Given the description of an element on the screen output the (x, y) to click on. 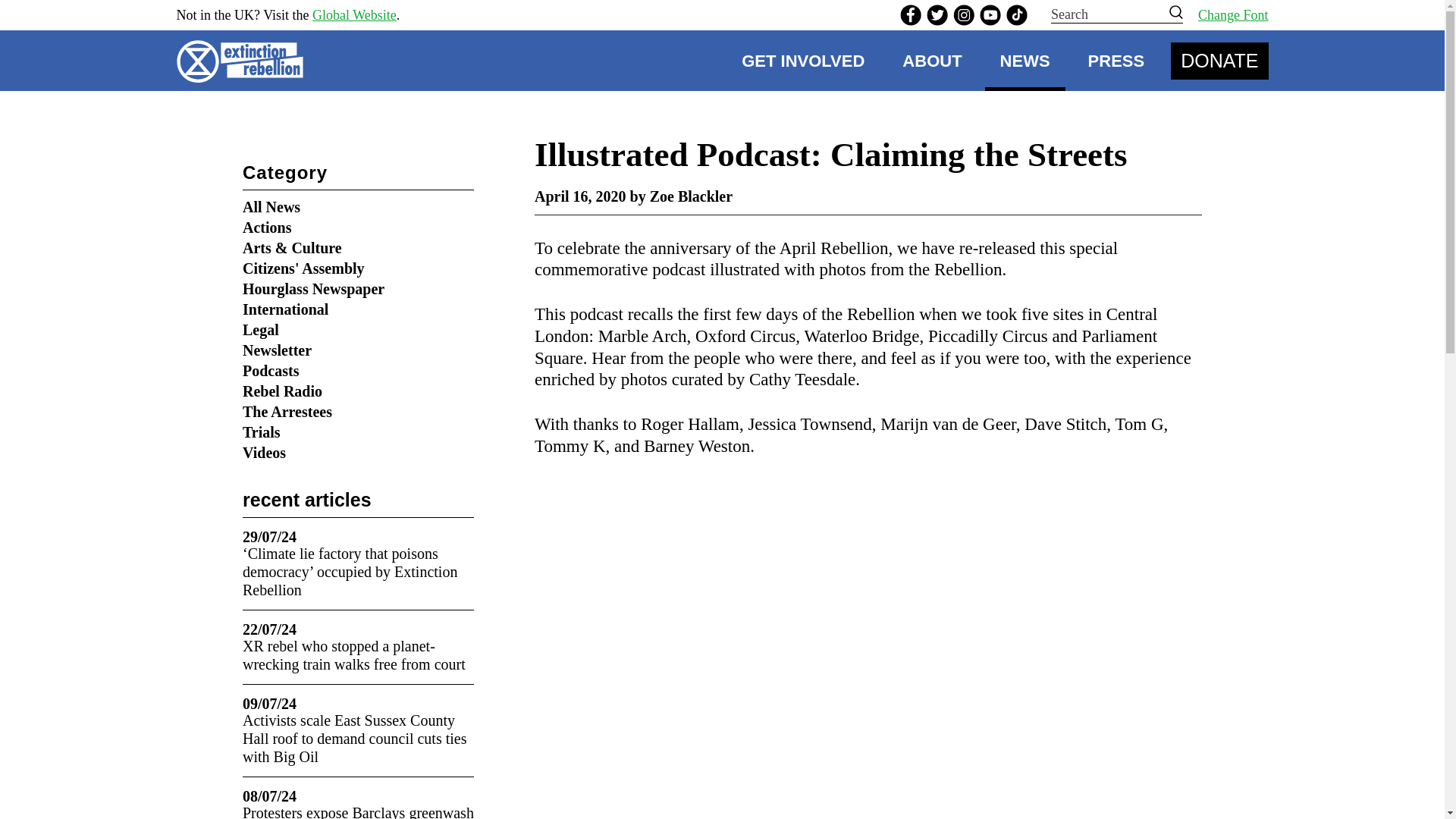
Global Website (354, 14)
Extinction Rebellion logo (244, 61)
